Given the description of an element on the screen output the (x, y) to click on. 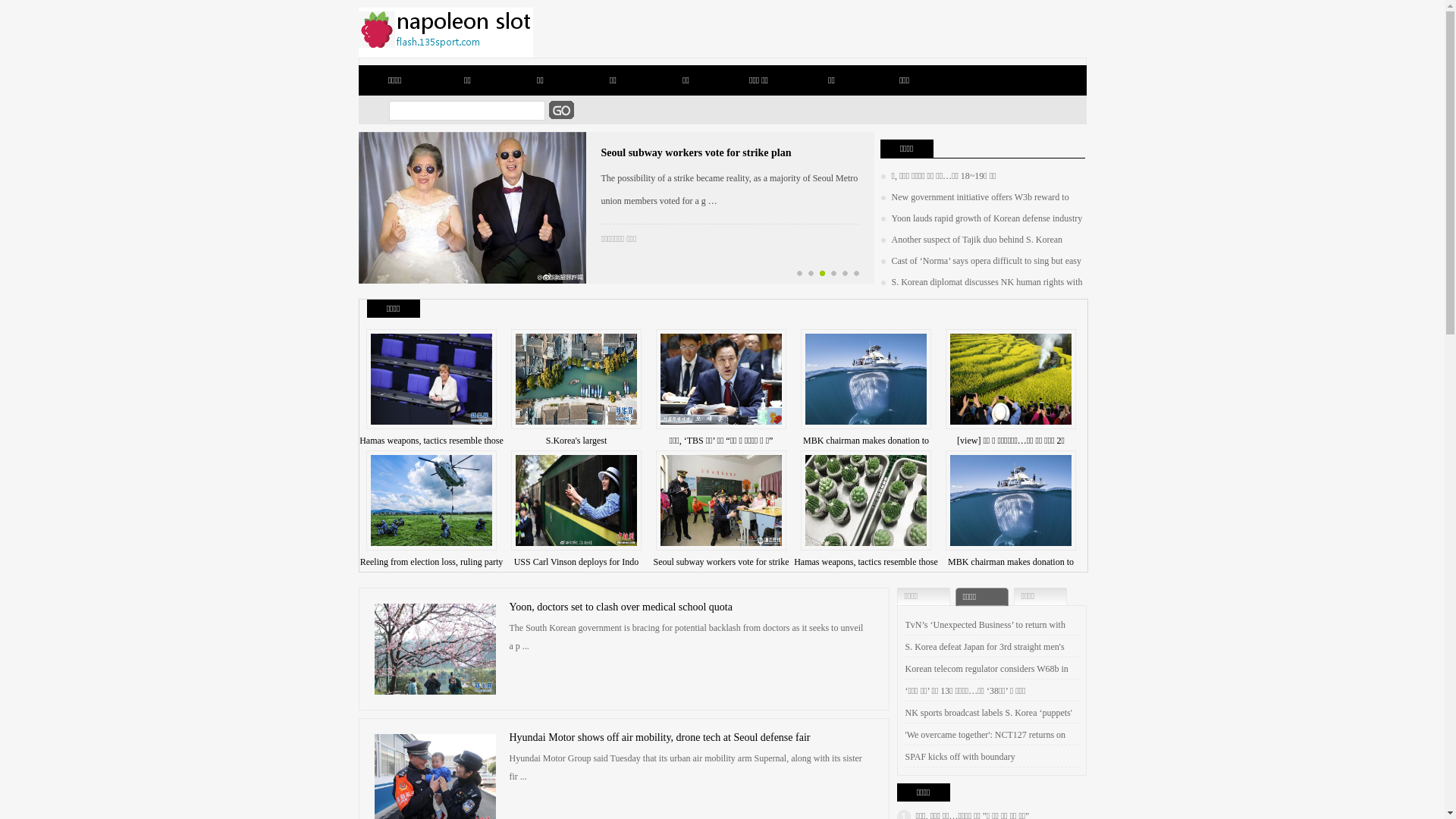
'We overcame together': NCT127 returns on more solid ground Element type: text (985, 745)
S. Korea defeat Japan for 3rd straight men's football gold Element type: text (984, 657)
S.Korea's largest Element type: text (576, 440)
Yoon, doctors set to clash over medical school quota Element type: text (620, 606)
S. Korean diplomat discusses NK human rights with US envoy Element type: text (980, 291)
Hamas weapons, tactics resemble those of NK: JCS Element type: text (431, 451)
Seoul subway workers vote for strike plan Element type: text (695, 152)
SPAF kicks off with boundary Element type: text (960, 756)
Yoon lauds rapid growth of Korean defense industry Element type: text (980, 218)
USS Carl Vinson deploys for Indo Element type: text (576, 561)
Seoul subway workers vote for strike plan Element type: text (721, 572)
Hamas weapons, tactics resemble those of NK: JCS Element type: text (865, 572)
